Given the description of an element on the screen output the (x, y) to click on. 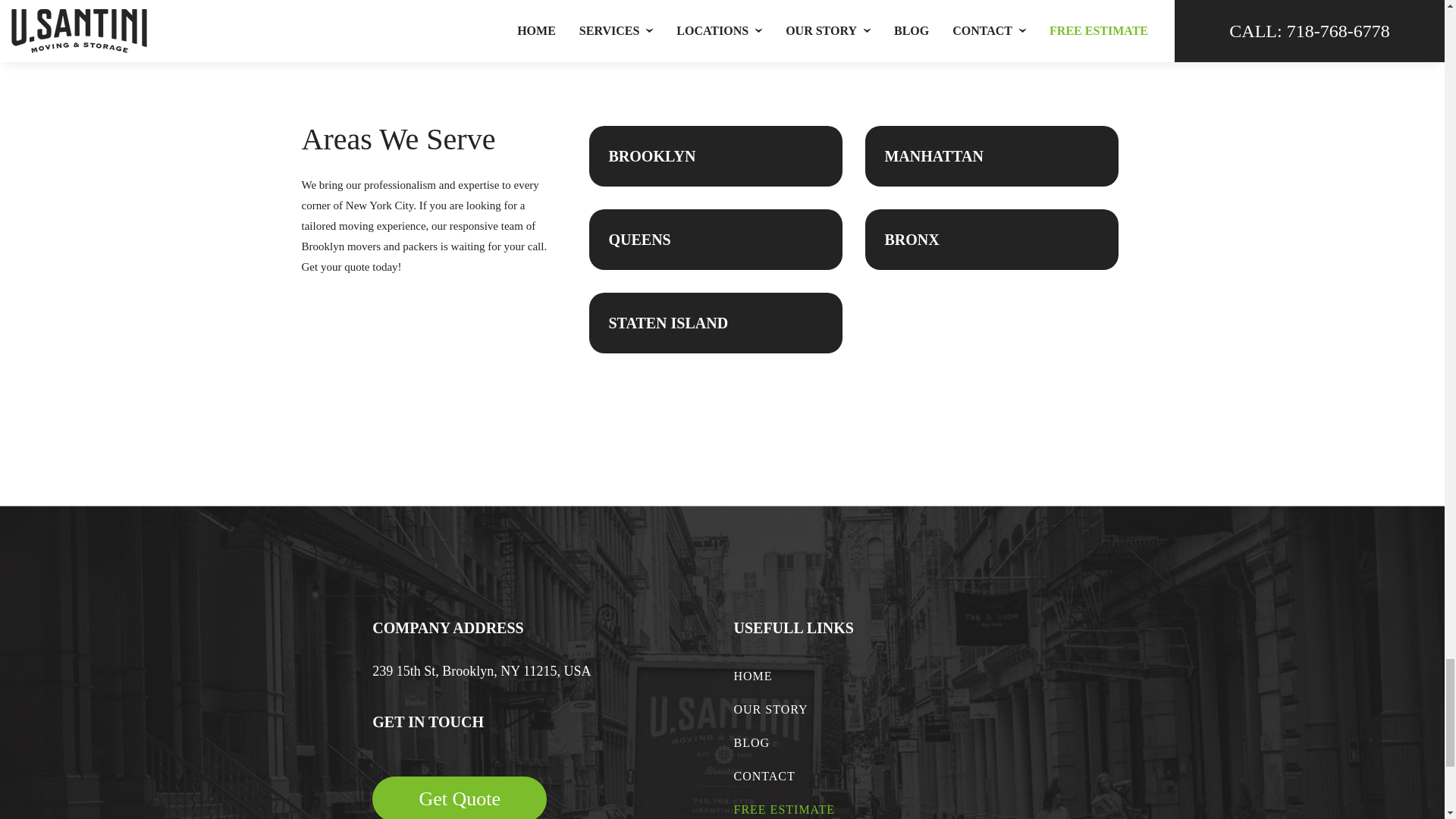
Google Map (1171, 719)
